Given the description of an element on the screen output the (x, y) to click on. 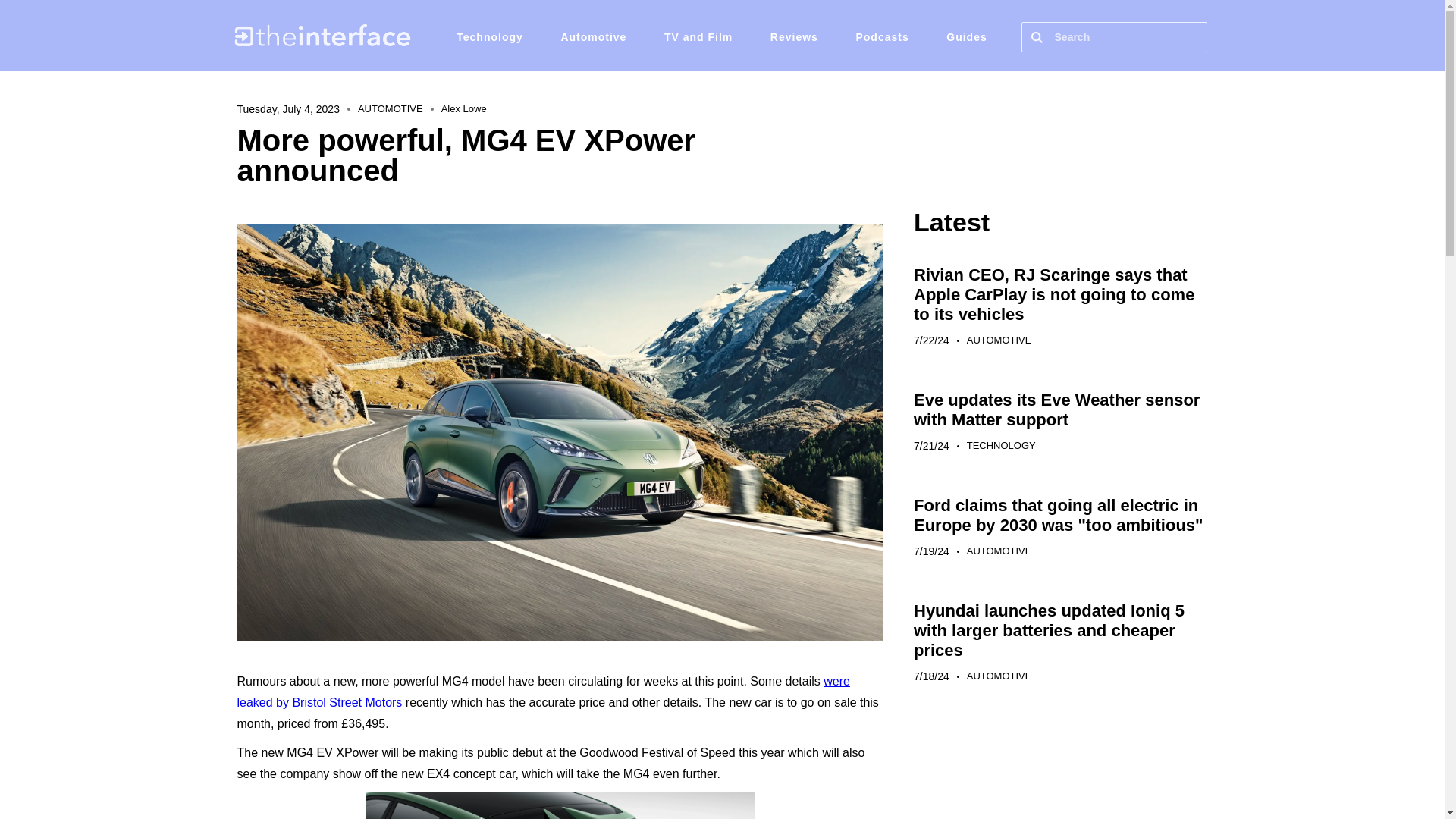
AUTOMOTIVE (999, 676)
AUTOMOTIVE (999, 340)
Guides (966, 37)
Automotive (593, 37)
TECHNOLOGY (1000, 445)
AUTOMOTIVE (999, 550)
were leaked by Bristol Street Motors (541, 691)
Reviews (793, 37)
TV and Film (698, 37)
Podcasts (881, 37)
AUTOMOTIVE (390, 108)
Eve updates its Eve Weather sensor with Matter support (1056, 409)
Technology (489, 37)
